Given the description of an element on the screen output the (x, y) to click on. 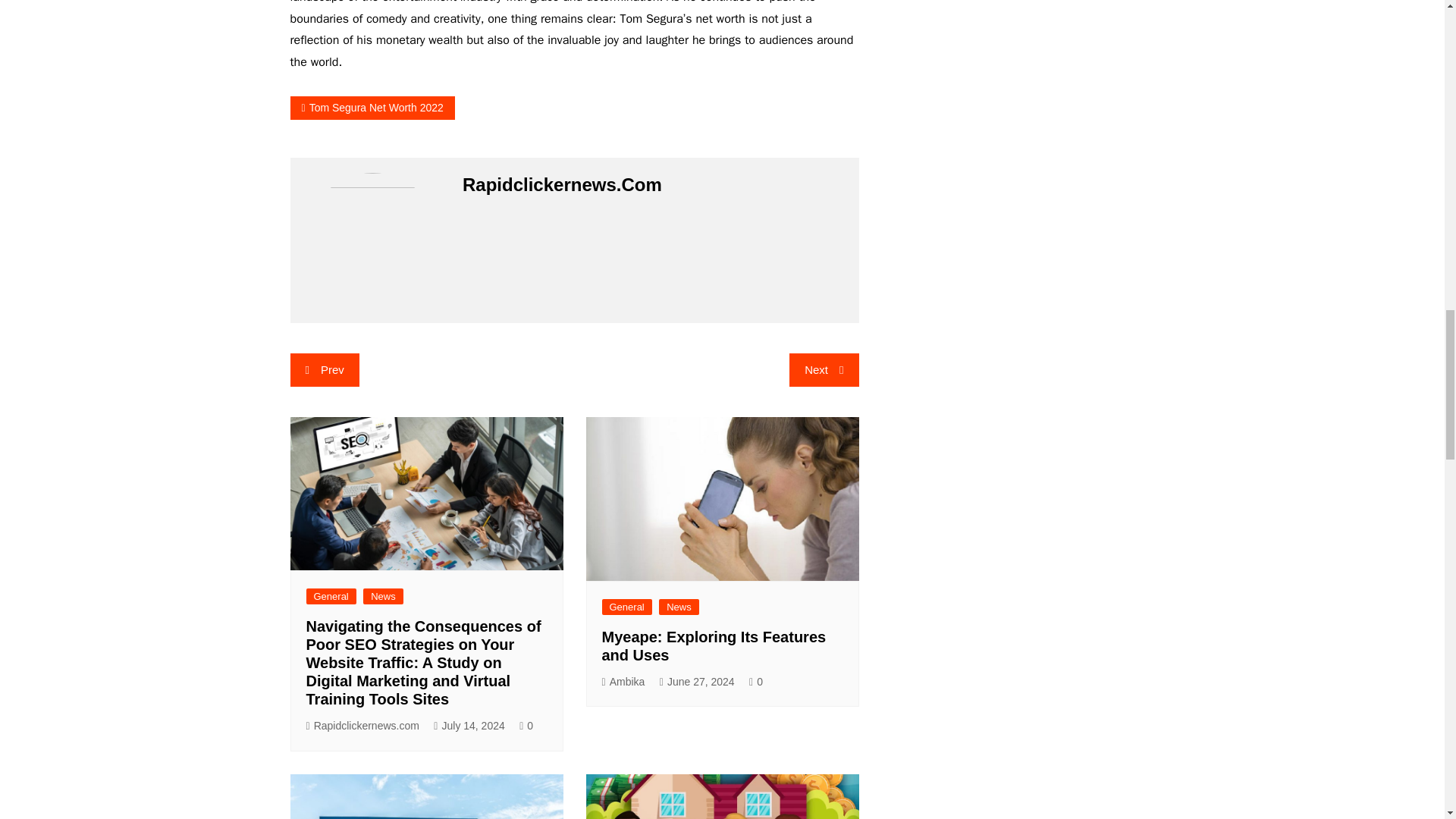
Myeape: Exploring Its Features and Uses (714, 645)
Next (824, 369)
Prev (323, 369)
News (382, 596)
Rapidclickernews.com (362, 725)
June 27, 2024 (697, 682)
July 14, 2024 (468, 725)
General (330, 596)
Ambika (623, 682)
News (678, 606)
General (627, 606)
Tom Segura Net Worth 2022 (371, 107)
